Given the description of an element on the screen output the (x, y) to click on. 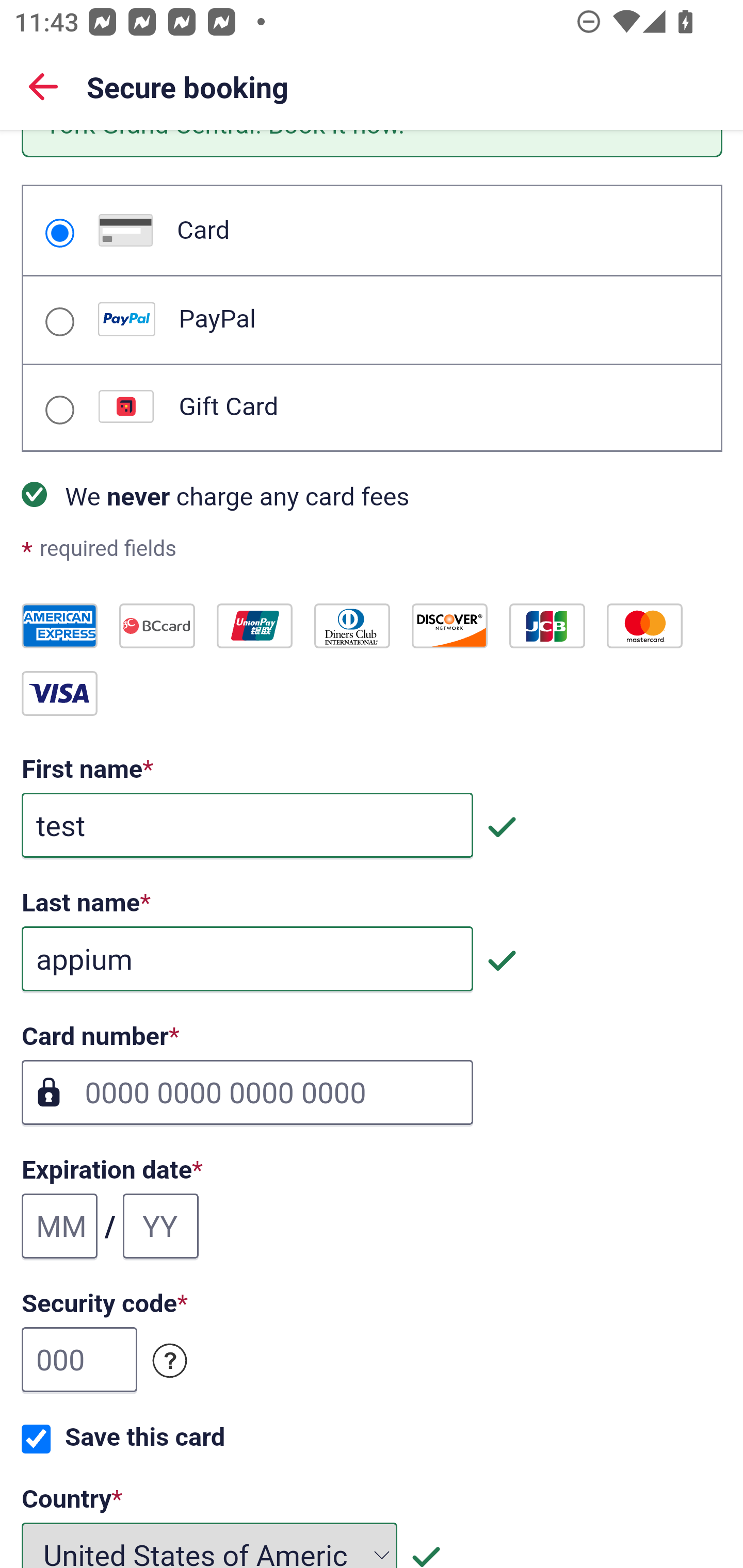
Back (43, 86)
Card (59, 233)
PayPal (59, 322)
Gift Card (59, 410)
test (247, 825)
appium (247, 958)
Security code (170, 1360)
Save this card (36, 1439)
United States of America (209, 1544)
